Given the description of an element on the screen output the (x, y) to click on. 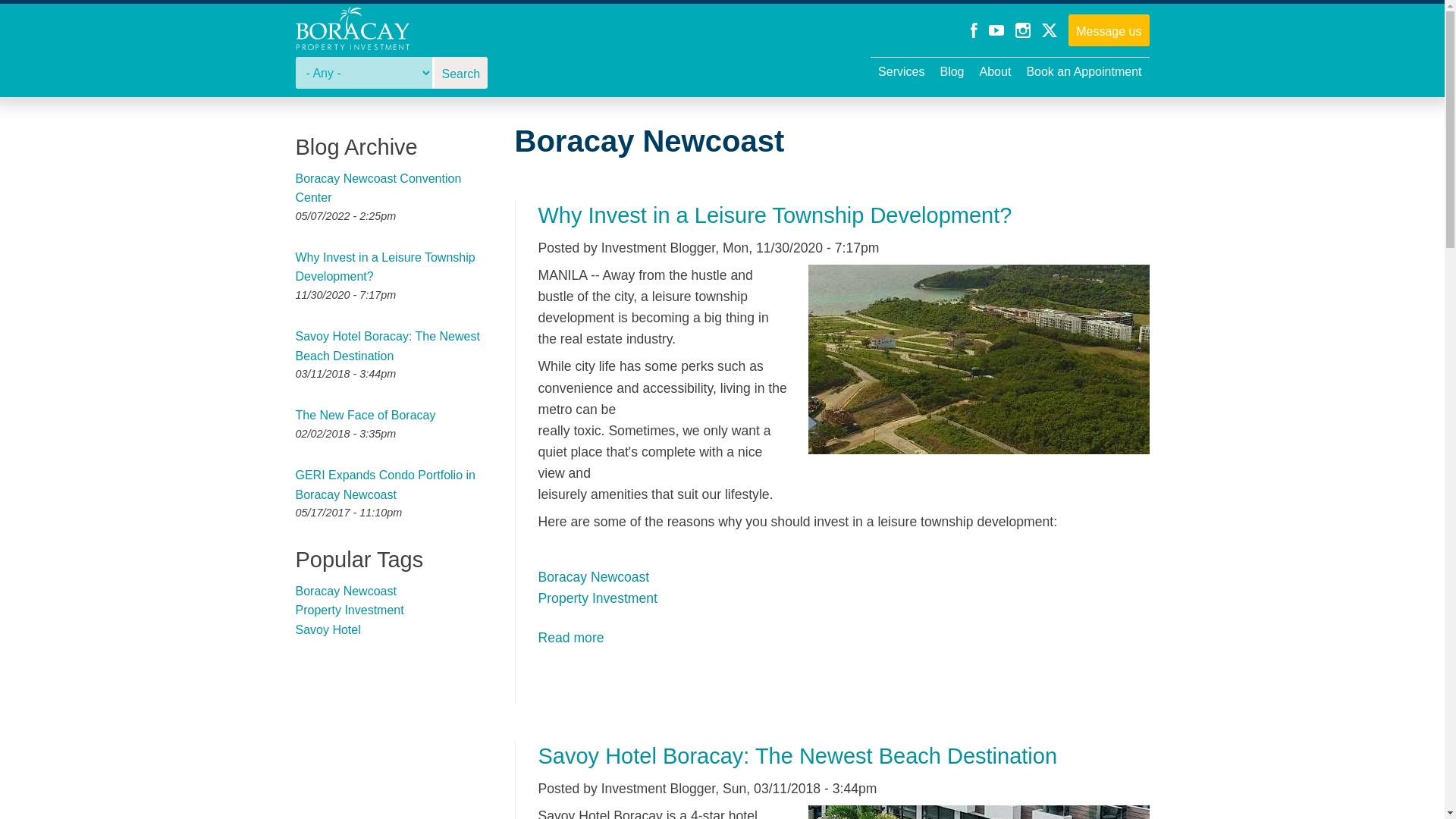
Blog (951, 73)
Why Invest in a Leisure Township Development? (571, 637)
Why Invest in a Leisure Township Development? (385, 266)
Boracay Newcoast Convention Center (378, 187)
Book an Appointment (1082, 73)
Services (900, 73)
Home (352, 30)
About (995, 73)
Search (461, 74)
GERI Expands Condo Portfolio in Boracay Newcoast (385, 484)
Message us (1108, 29)
The New Face of Boracay (365, 414)
Boracay Newcoast (593, 576)
Why Invest in a Leisure Township Development? (774, 215)
